Given the description of an element on the screen output the (x, y) to click on. 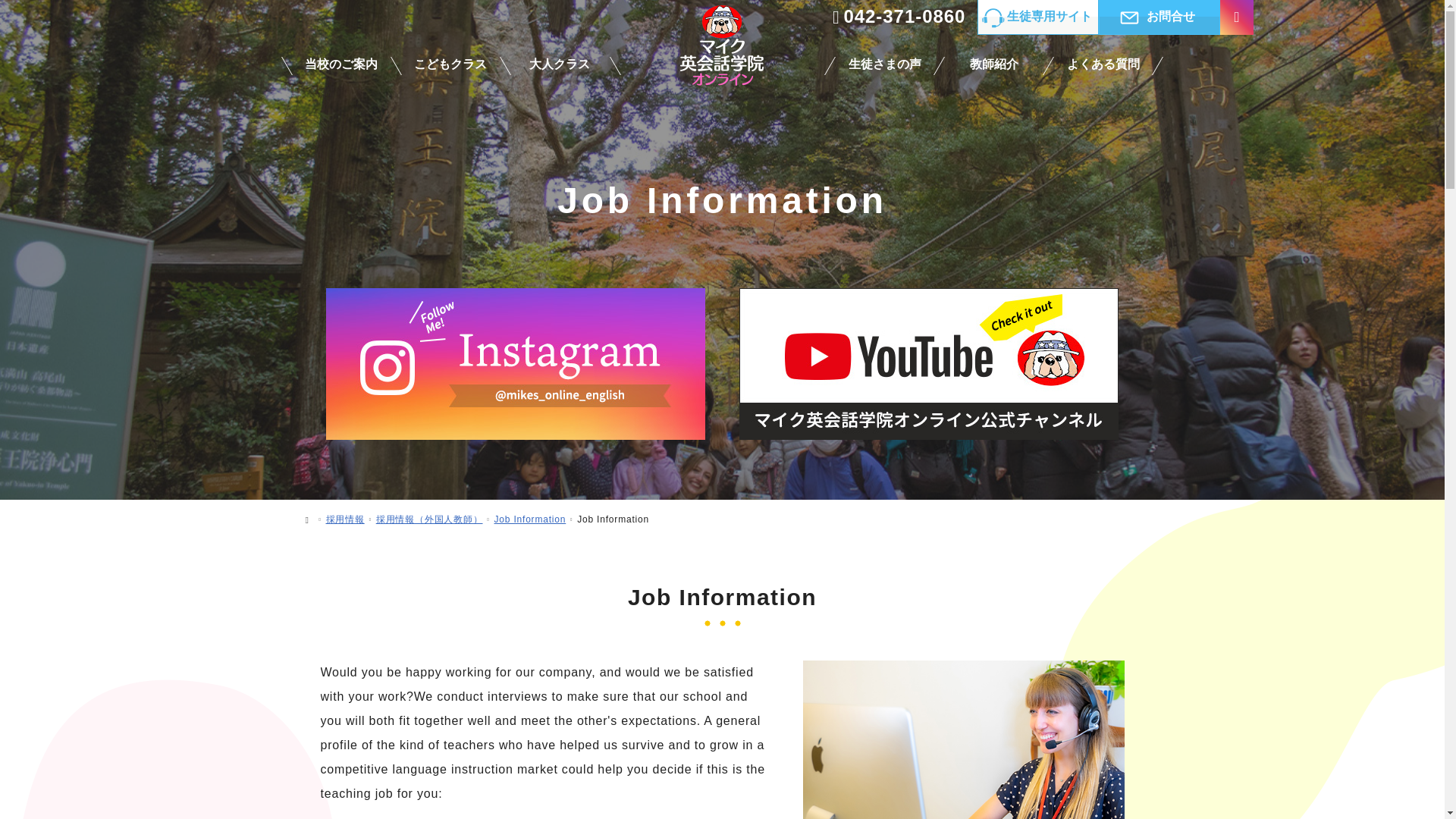
Job Information (530, 519)
